Given the description of an element on the screen output the (x, y) to click on. 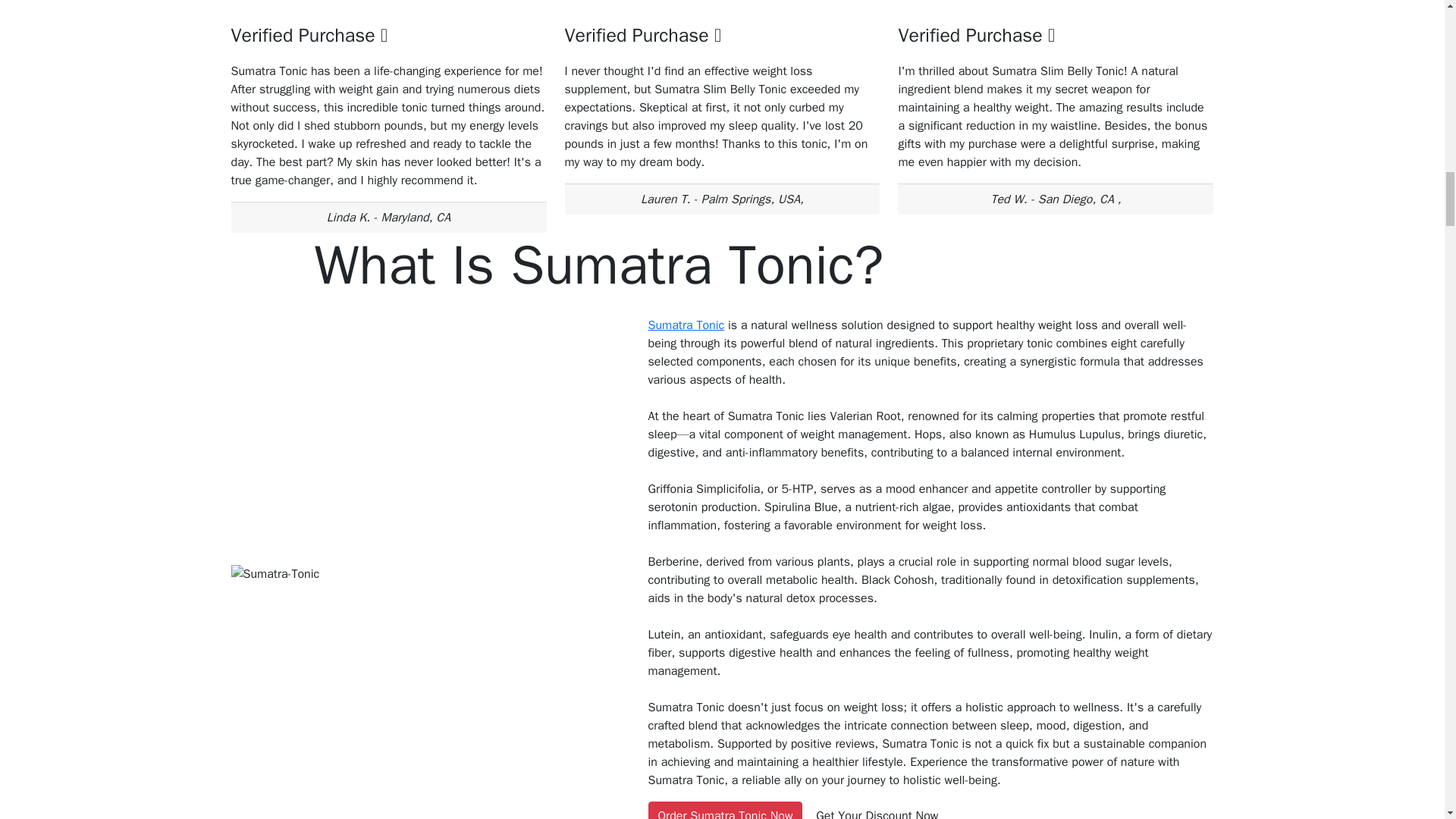
Order Sumatra Tonic Now (724, 810)
Sumatra Tonic (685, 324)
Get Your Discount Now (876, 810)
